Given the description of an element on the screen output the (x, y) to click on. 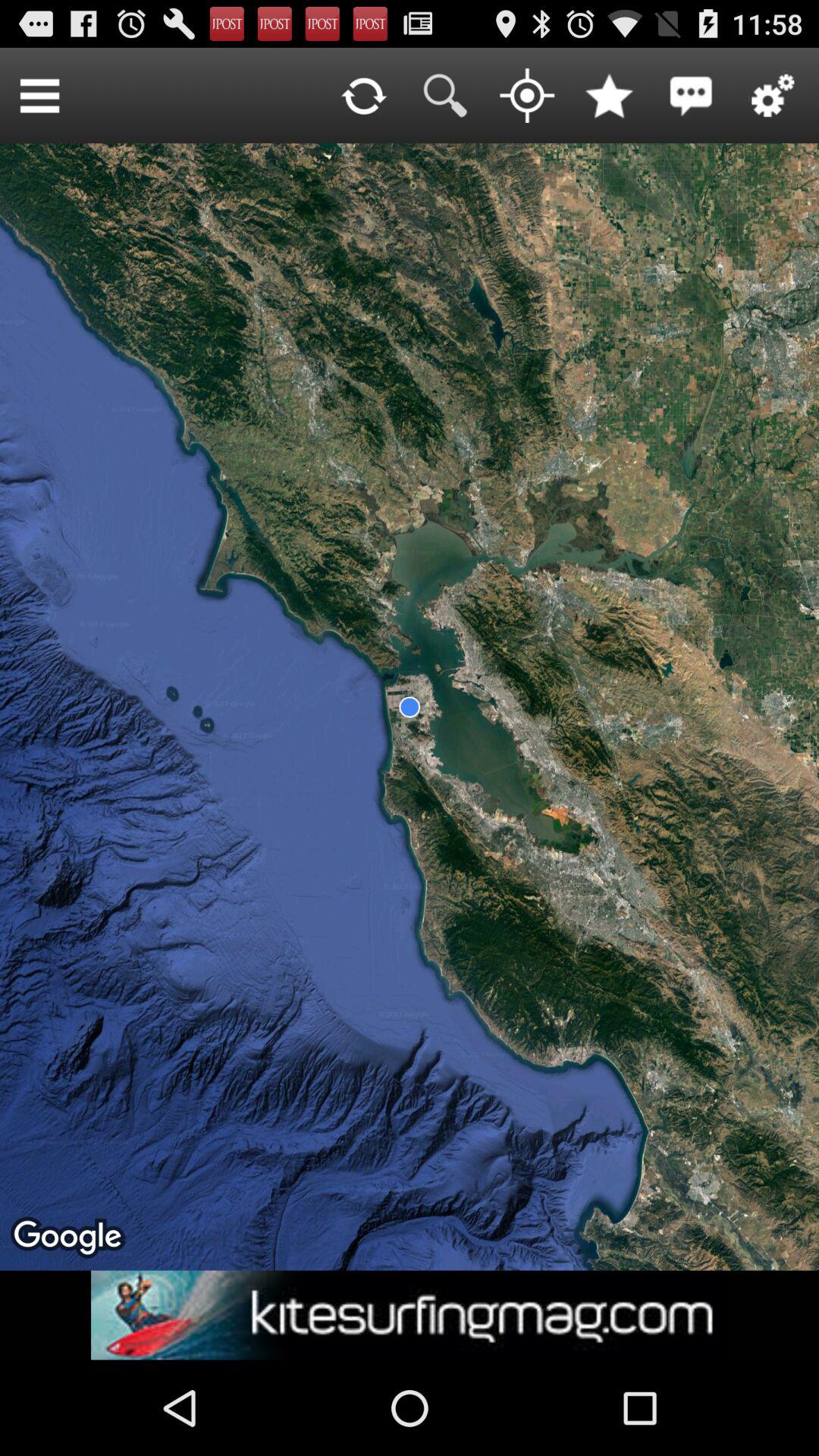
turn on the item at the top left corner (39, 95)
